Given the description of an element on the screen output the (x, y) to click on. 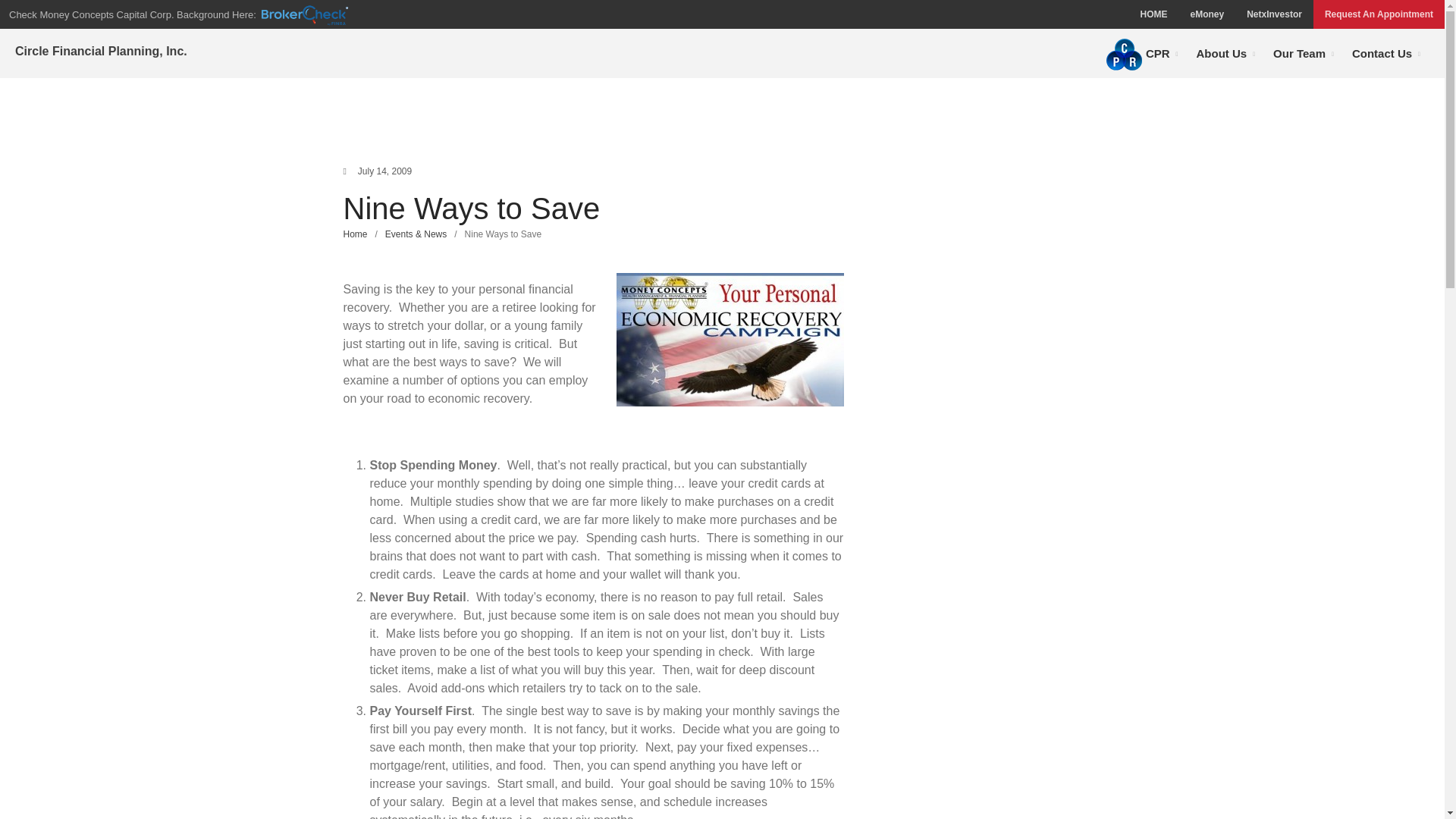
CPR (1146, 53)
Contact Us (1385, 53)
NetxInvestor (1273, 14)
eMoney (1205, 14)
Circle Financial Planning, Inc. (100, 51)
HOME (1152, 14)
Home (354, 234)
About Us (1225, 53)
Our Team (1302, 53)
image004-300x176 (729, 339)
